Given the description of an element on the screen output the (x, y) to click on. 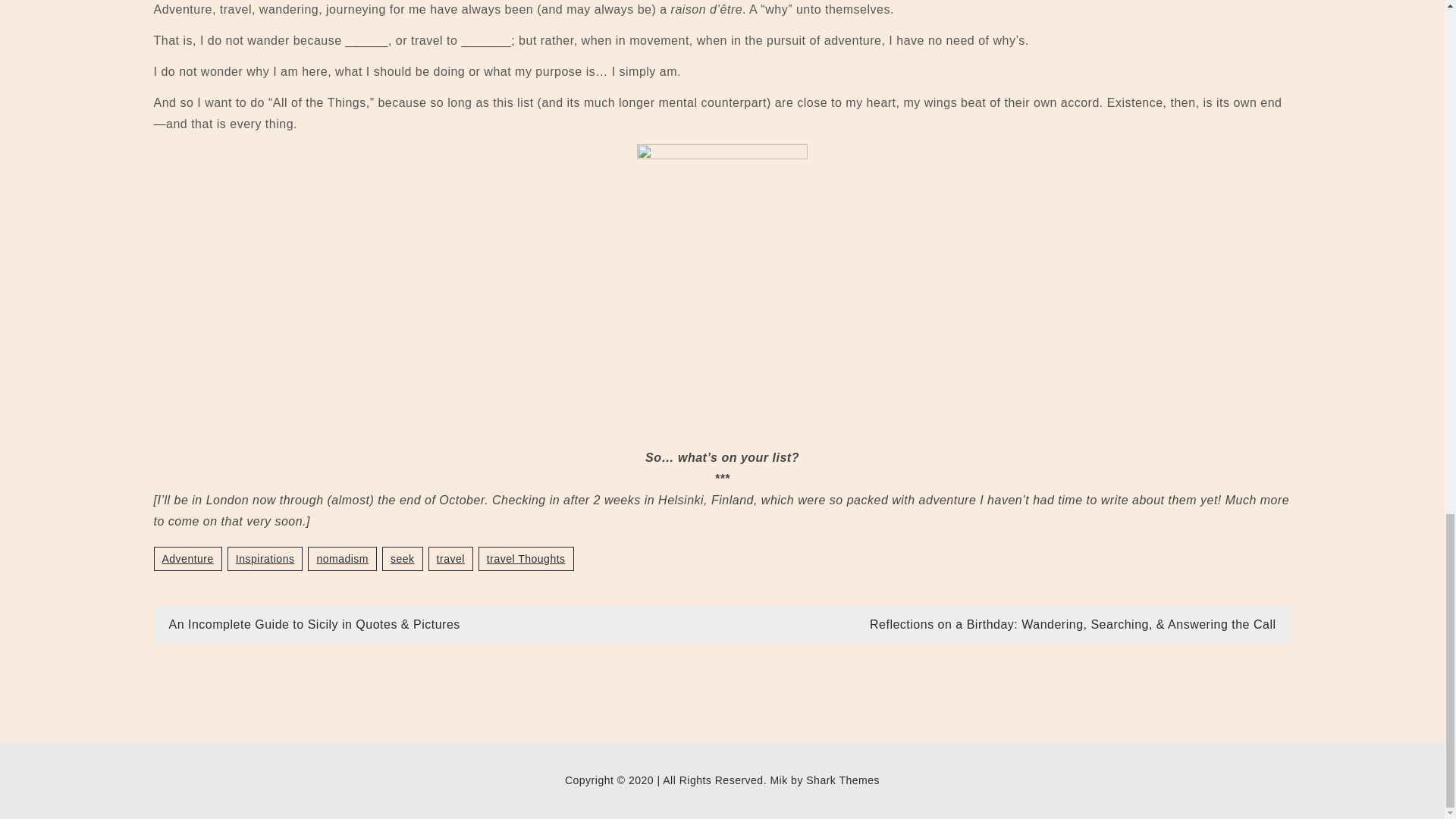
Seek (402, 558)
Shark Themes (842, 779)
Inspirations (264, 558)
Nomadism (342, 558)
Travel (450, 558)
Travel Thoughts (526, 558)
Adventure (186, 558)
